Given the description of an element on the screen output the (x, y) to click on. 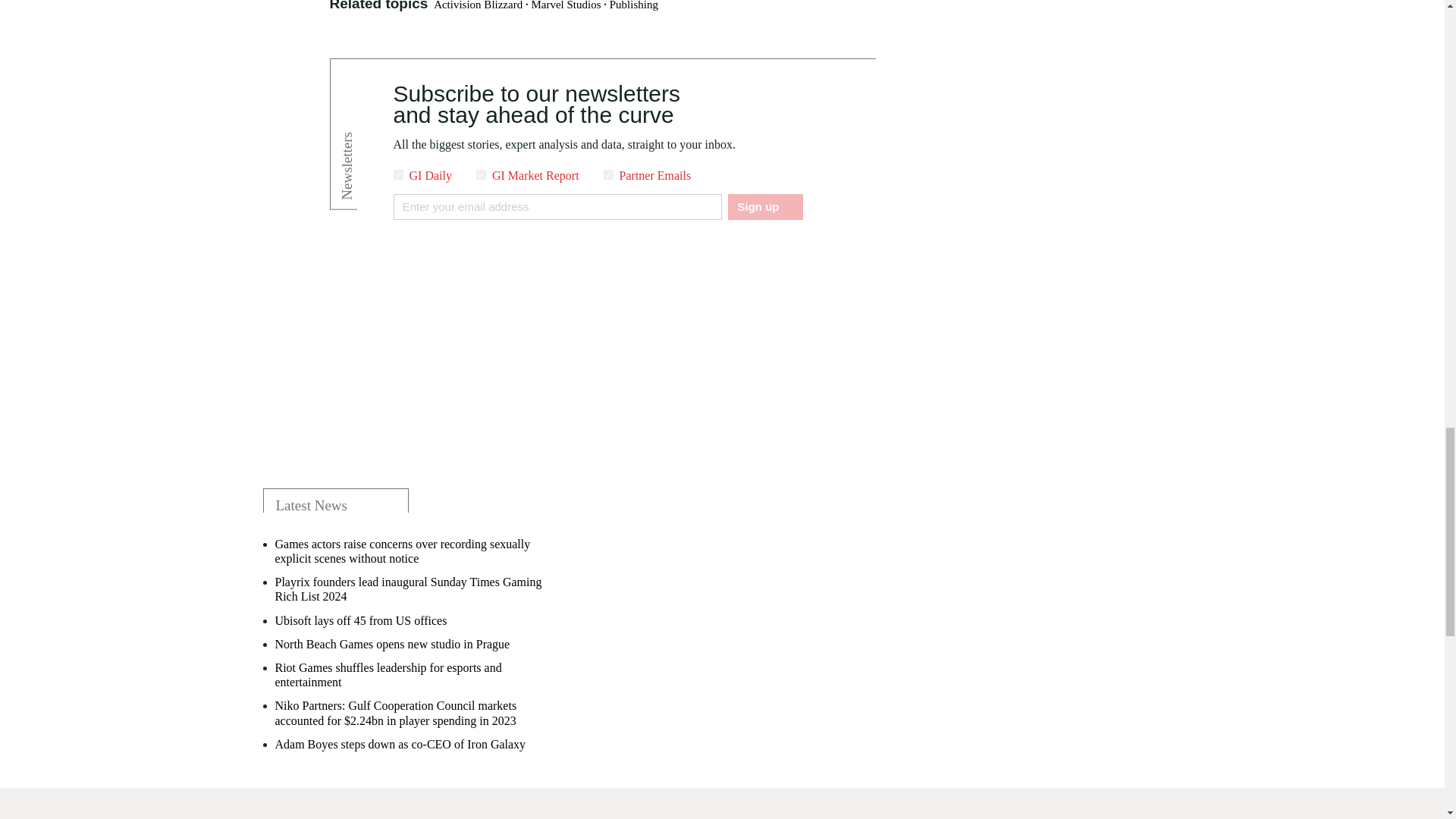
on (398, 174)
on (608, 174)
Publishing (634, 5)
Marvel Studios (565, 5)
Riot Games shuffles leadership for esports and entertainment (409, 674)
Activision Blizzard (477, 5)
Sign up (765, 207)
North Beach Games opens new studio in Prague (392, 644)
